Given the description of an element on the screen output the (x, y) to click on. 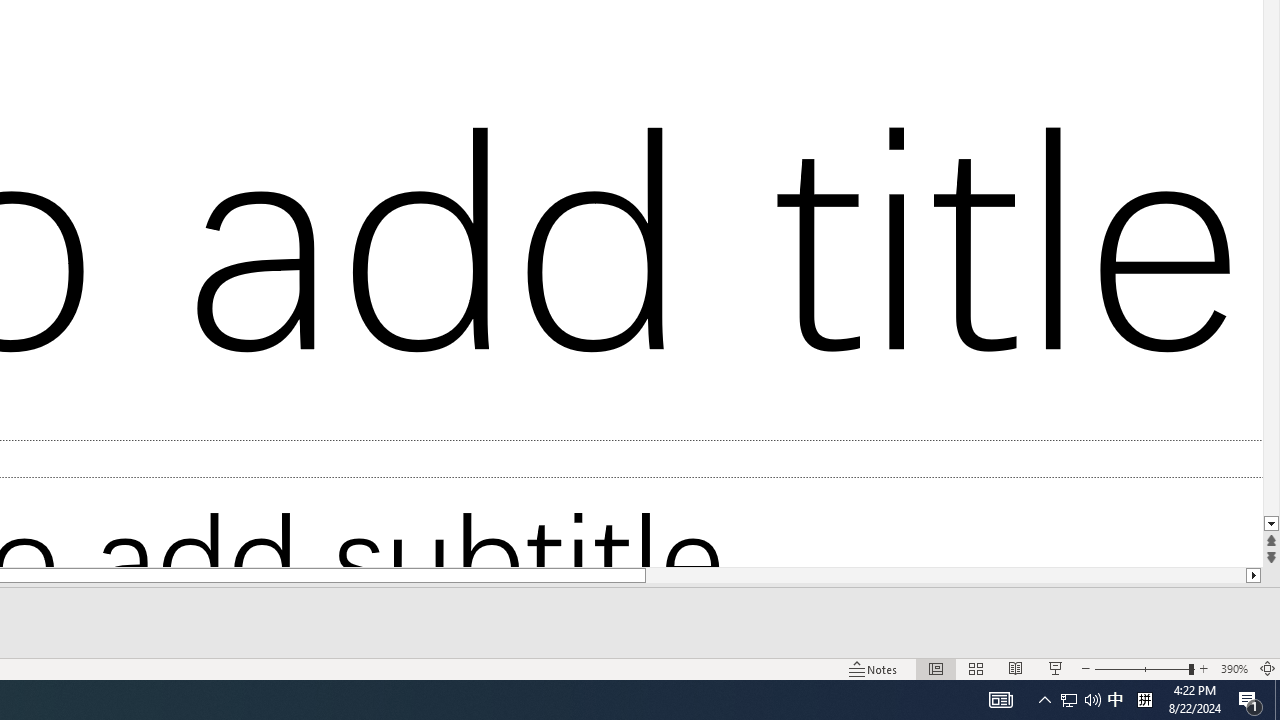
OK (108, 309)
RichEdit Control (235, 23)
